Given the description of an element on the screen output the (x, y) to click on. 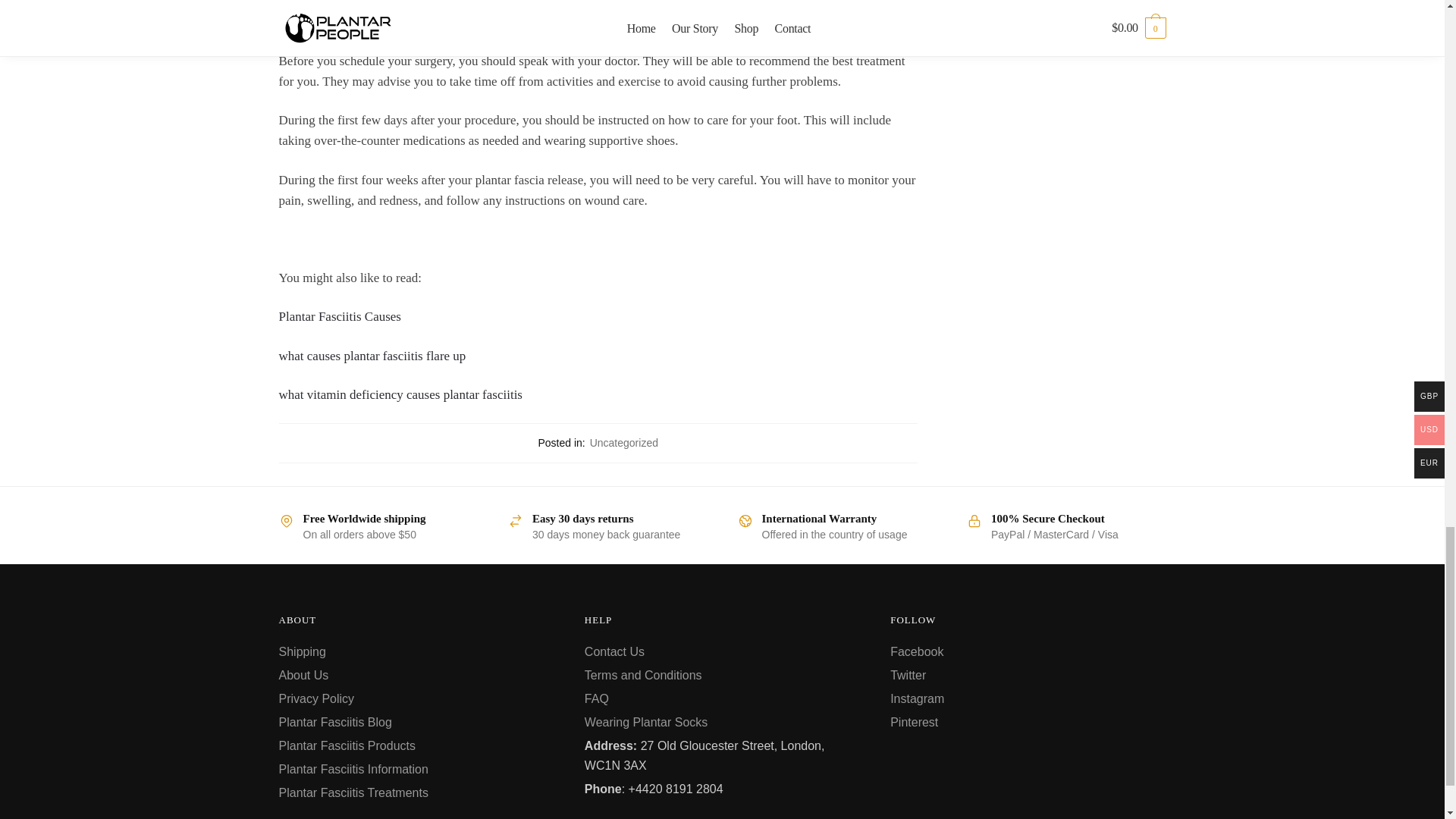
Wearing Plantar Socks (646, 721)
what causes plantar fasciitis flare up (372, 355)
Instagram (916, 698)
Plantar Fasciitis Blog (335, 721)
FAQ (596, 698)
About Us (304, 675)
Pinterest (913, 721)
Shipping (302, 651)
Facebook (916, 651)
Plantar Fasciitis Information (353, 768)
